Given the description of an element on the screen output the (x, y) to click on. 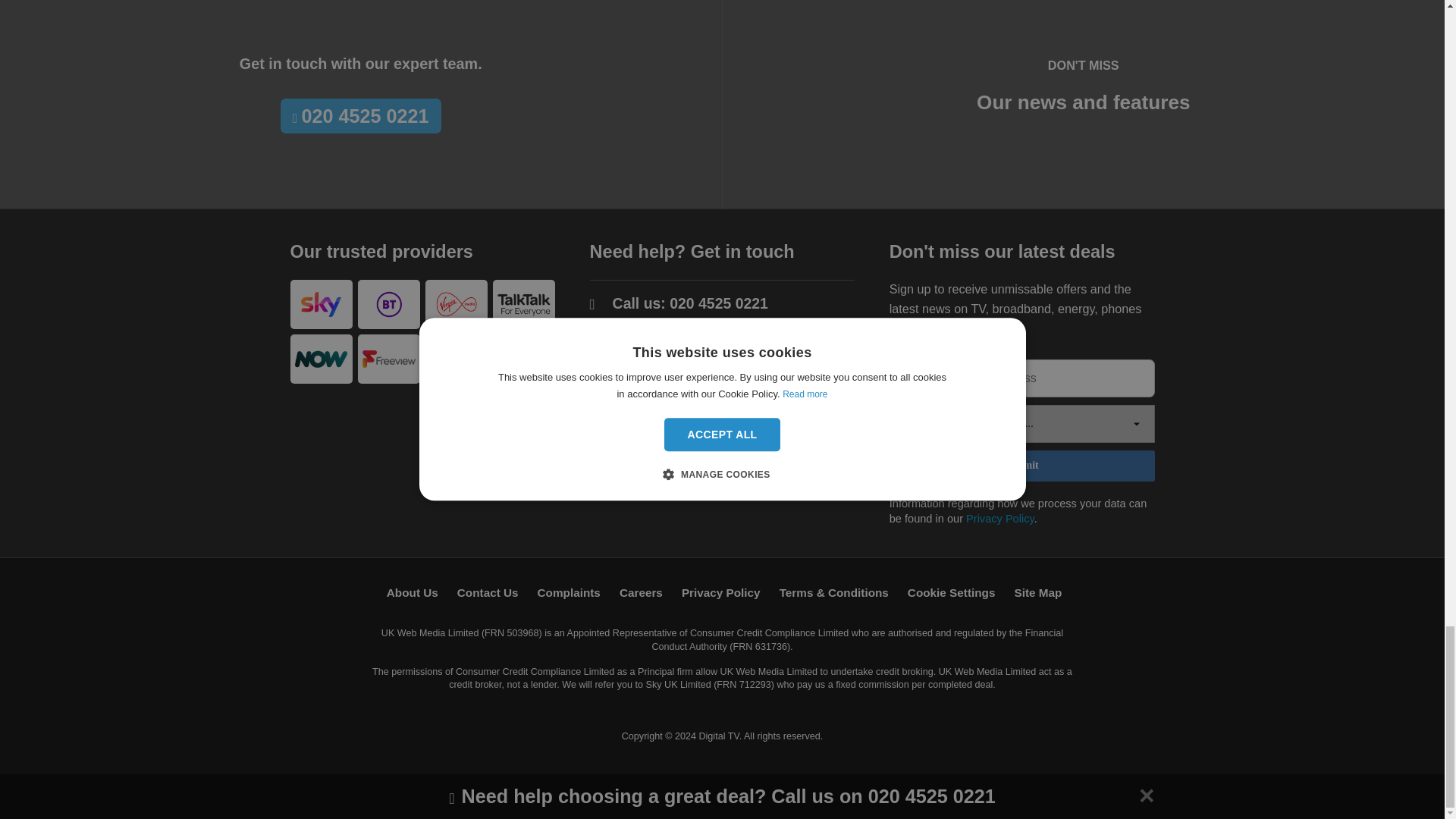
Our news and features (1082, 101)
020 4525 0221 (718, 303)
020 4525 0221 (361, 116)
Send us a message (680, 350)
Privacy Policy (999, 518)
